Given the description of an element on the screen output the (x, y) to click on. 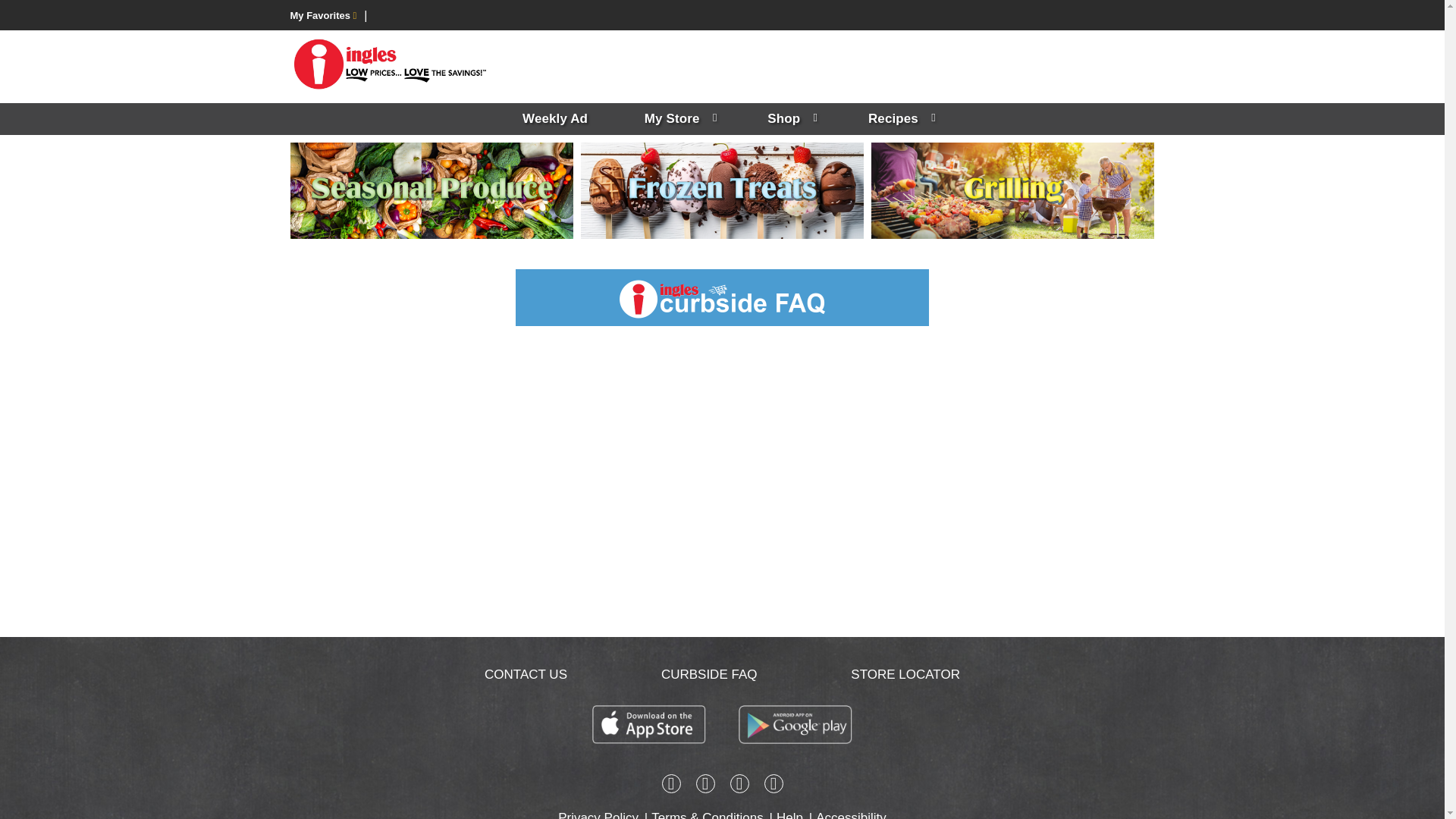
Grilling (1012, 190)
My Store (677, 119)
Frozen Treats (721, 190)
Shop (789, 119)
CURBSIDE FAQ (709, 674)
My Favorites  (322, 15)
facebook (670, 785)
Recipes (898, 119)
STORE LOCATOR (904, 674)
twitter (738, 785)
Seasonal Produce (430, 190)
Weekly Ad (554, 119)
instagram (704, 785)
CONTACT US (525, 674)
youtube (773, 785)
